Given the description of an element on the screen output the (x, y) to click on. 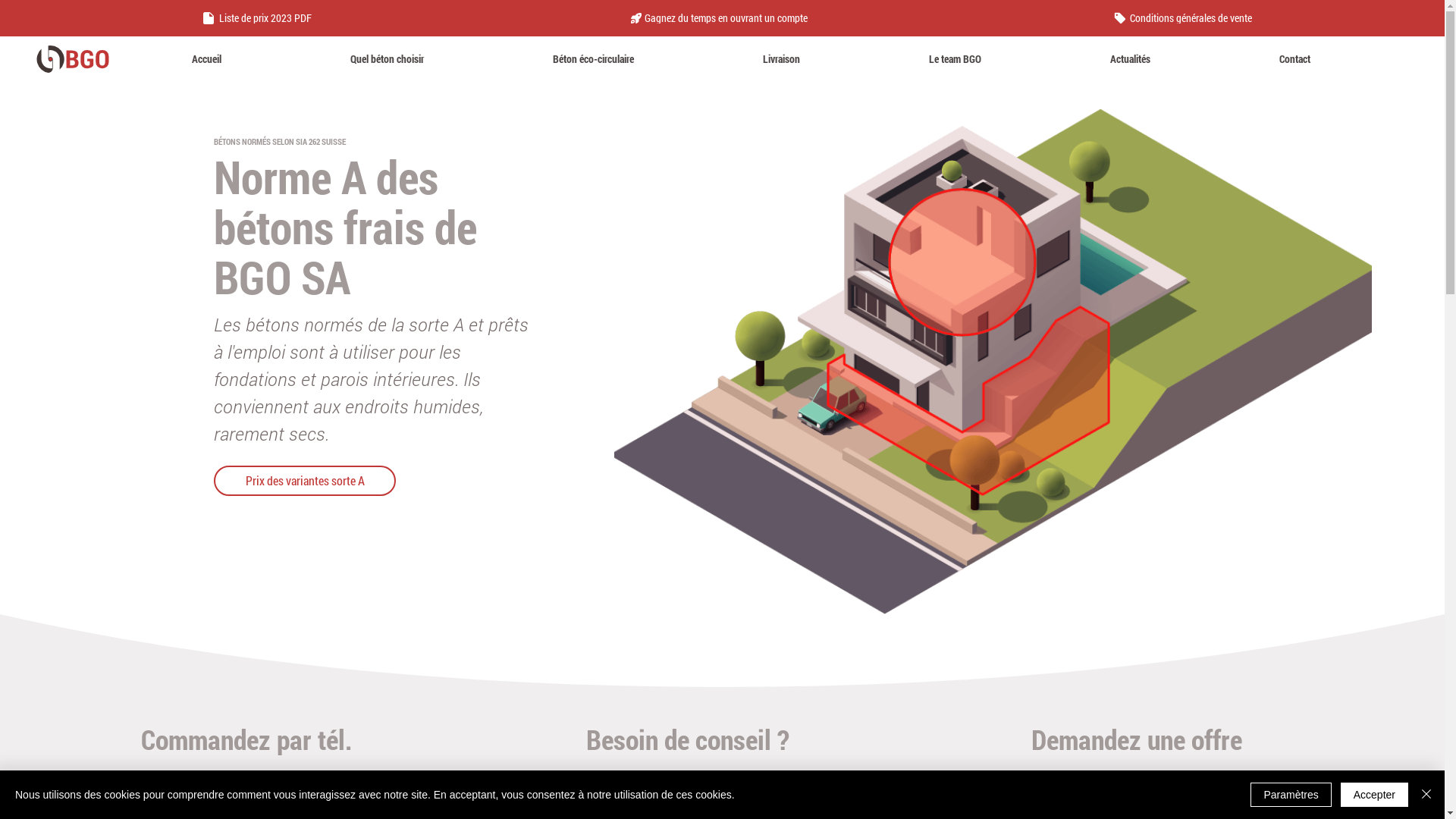
Livraison Element type: text (781, 58)
Accueil Element type: text (206, 58)
+41 21 869 06 61 Element type: text (254, 789)
Contact Element type: text (1294, 58)
Gagnez du temps en ouvrant un compte Element type: text (721, 18)
Prix des variantes sorte A Element type: text (304, 480)
Le team BGO Element type: text (954, 58)
Accepter Element type: text (1374, 794)
sburnet@bgosa.ch Element type: text (1144, 789)
+41 79 375 36 96 Element type: text (698, 789)
Liste de prix 2023 PDF Element type: text (259, 18)
